Given the description of an element on the screen output the (x, y) to click on. 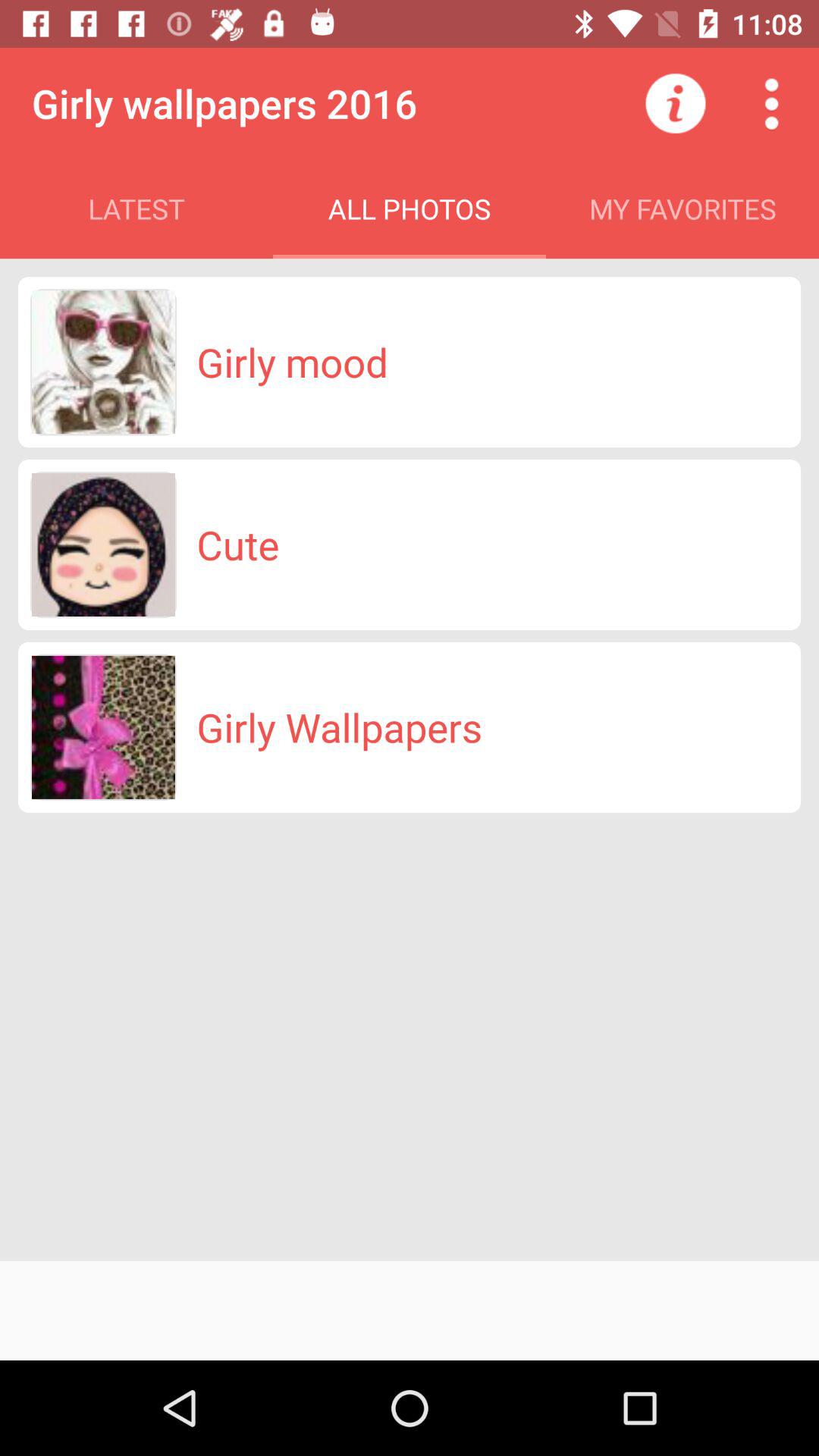
turn on the app below the latest app (291, 361)
